Given the description of an element on the screen output the (x, y) to click on. 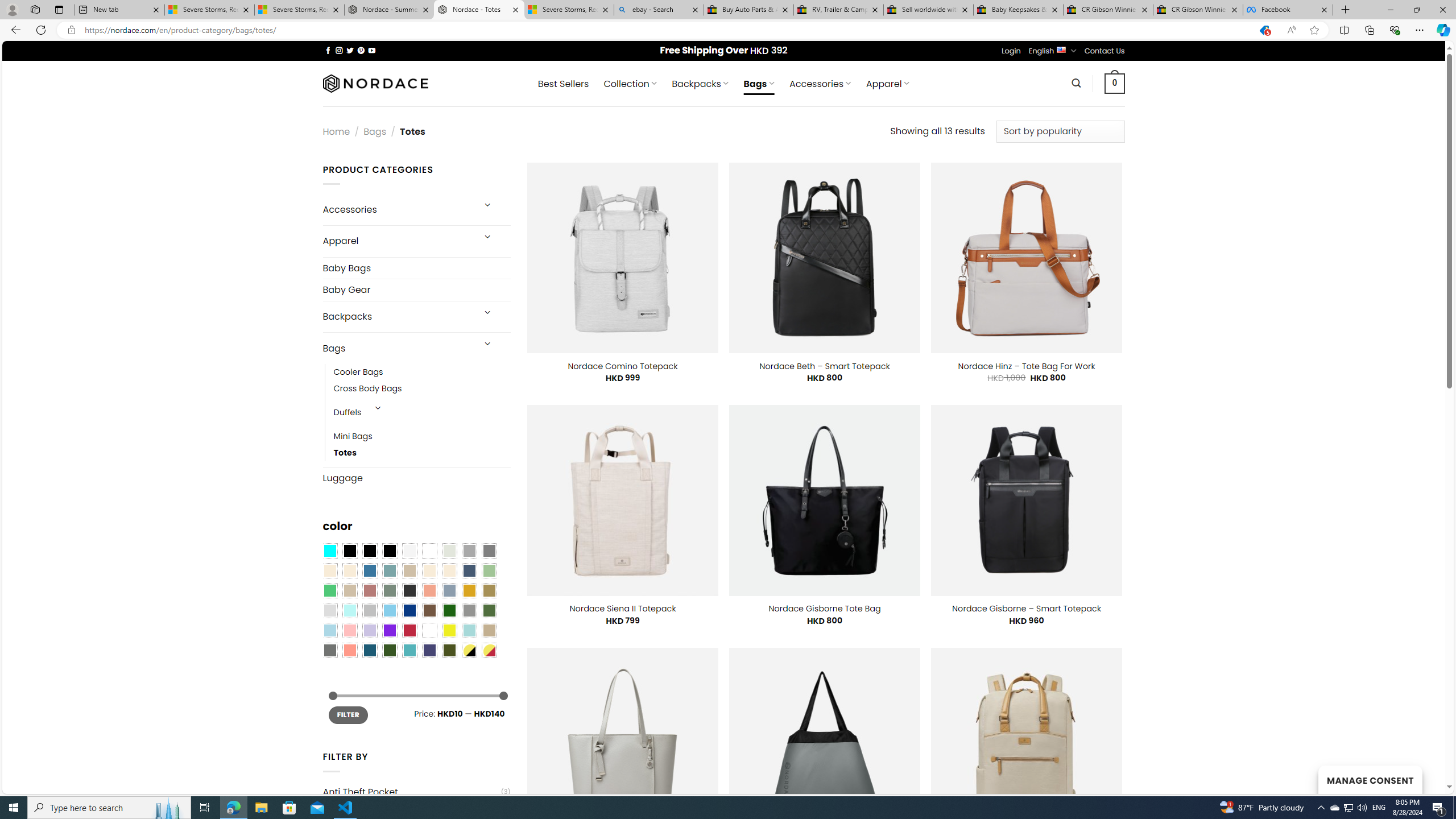
Light Taupe (349, 590)
Beige (329, 570)
Green (488, 610)
Red (408, 630)
Light Gray (329, 610)
Nordace - Totes (478, 9)
Light Blue (329, 630)
Navy Blue (408, 610)
Peach Pink (349, 649)
Gold (468, 590)
Anti Theft Pocket (410, 791)
